Given the description of an element on the screen output the (x, y) to click on. 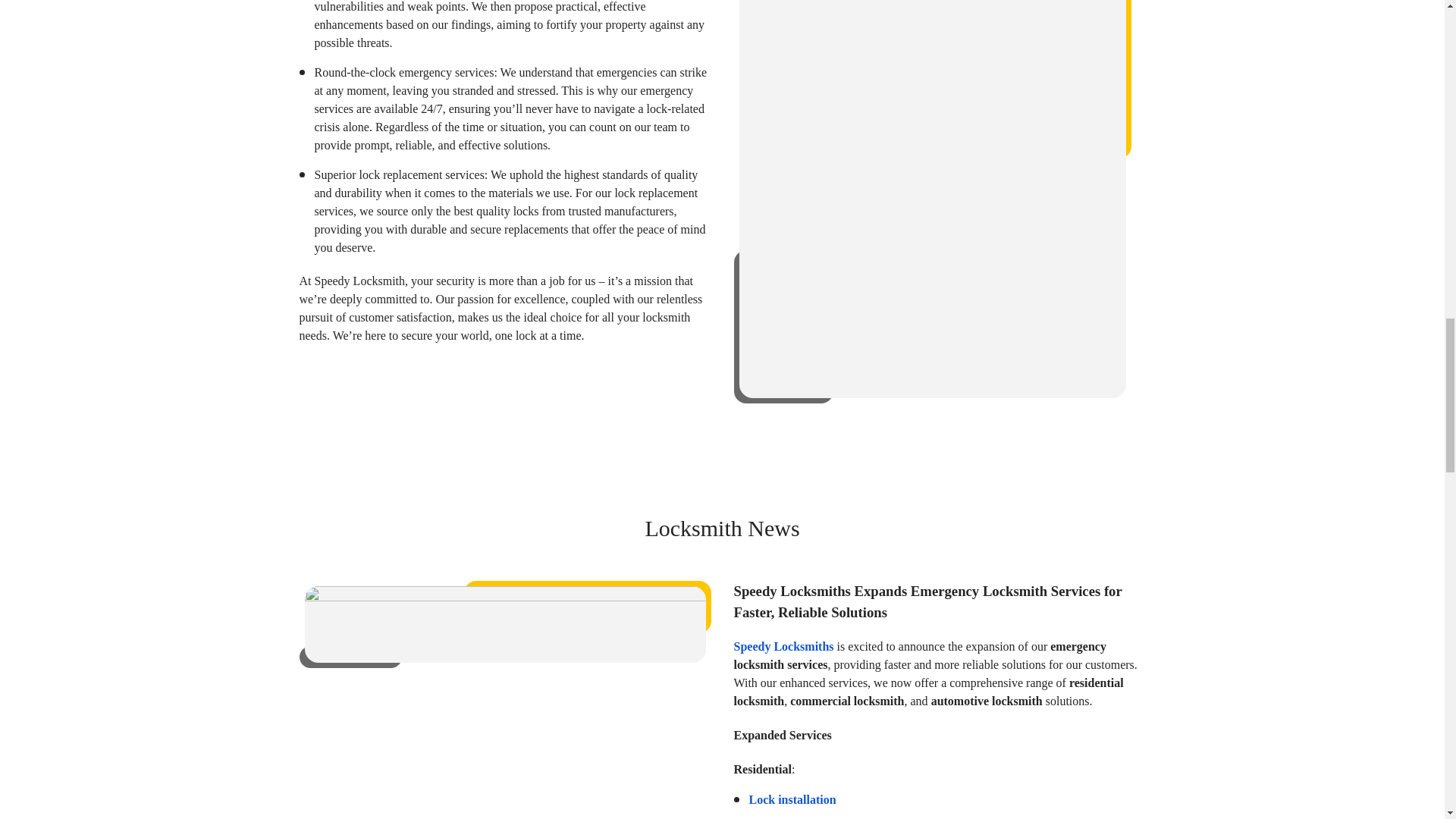
Lock installation (792, 799)
logo-new (505, 624)
Speedy Locksmiths (783, 645)
